Given the description of an element on the screen output the (x, y) to click on. 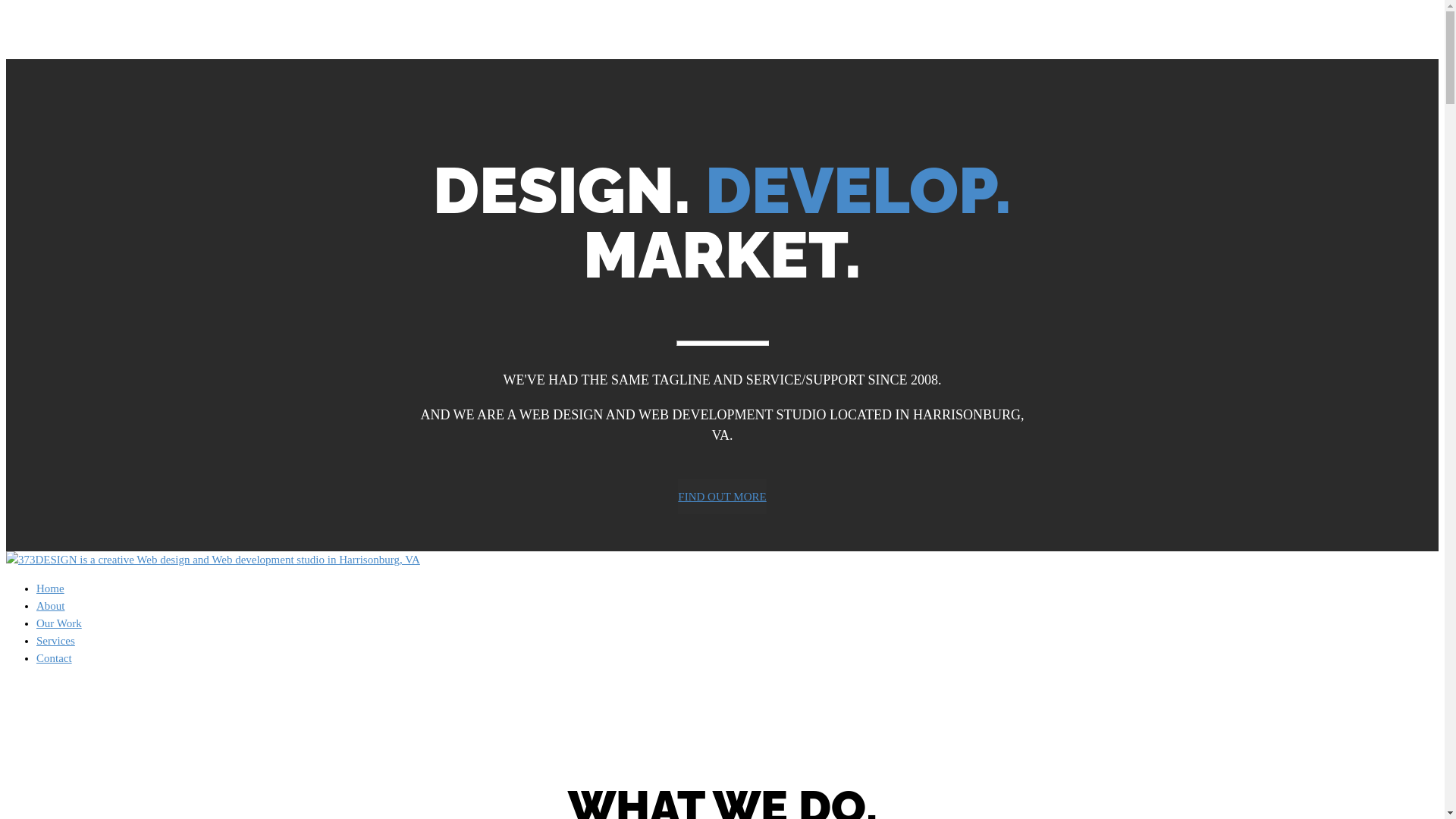
FIND OUT MORE Element type: text (721, 496)
About Element type: text (50, 605)
Contact Element type: text (54, 658)
Services Element type: text (55, 640)
Home Element type: text (50, 588)
Our Work Element type: text (58, 623)
